Given the description of an element on the screen output the (x, y) to click on. 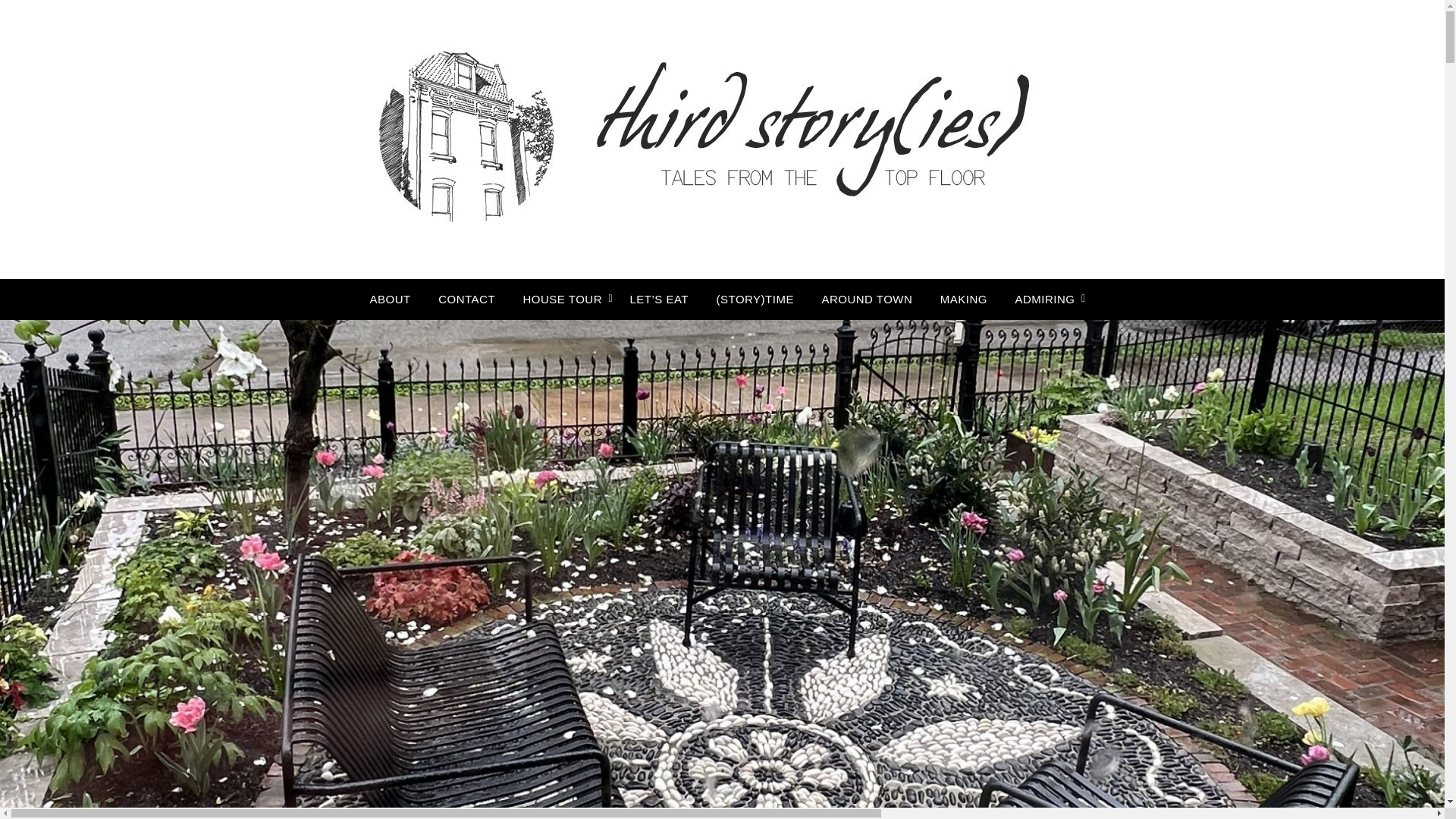
CONTACT (466, 299)
MAKING (963, 299)
HOUSE TOUR (562, 299)
ABOUT (390, 299)
AROUND TOWN (866, 299)
ADMIRING (1044, 299)
